Given the description of an element on the screen output the (x, y) to click on. 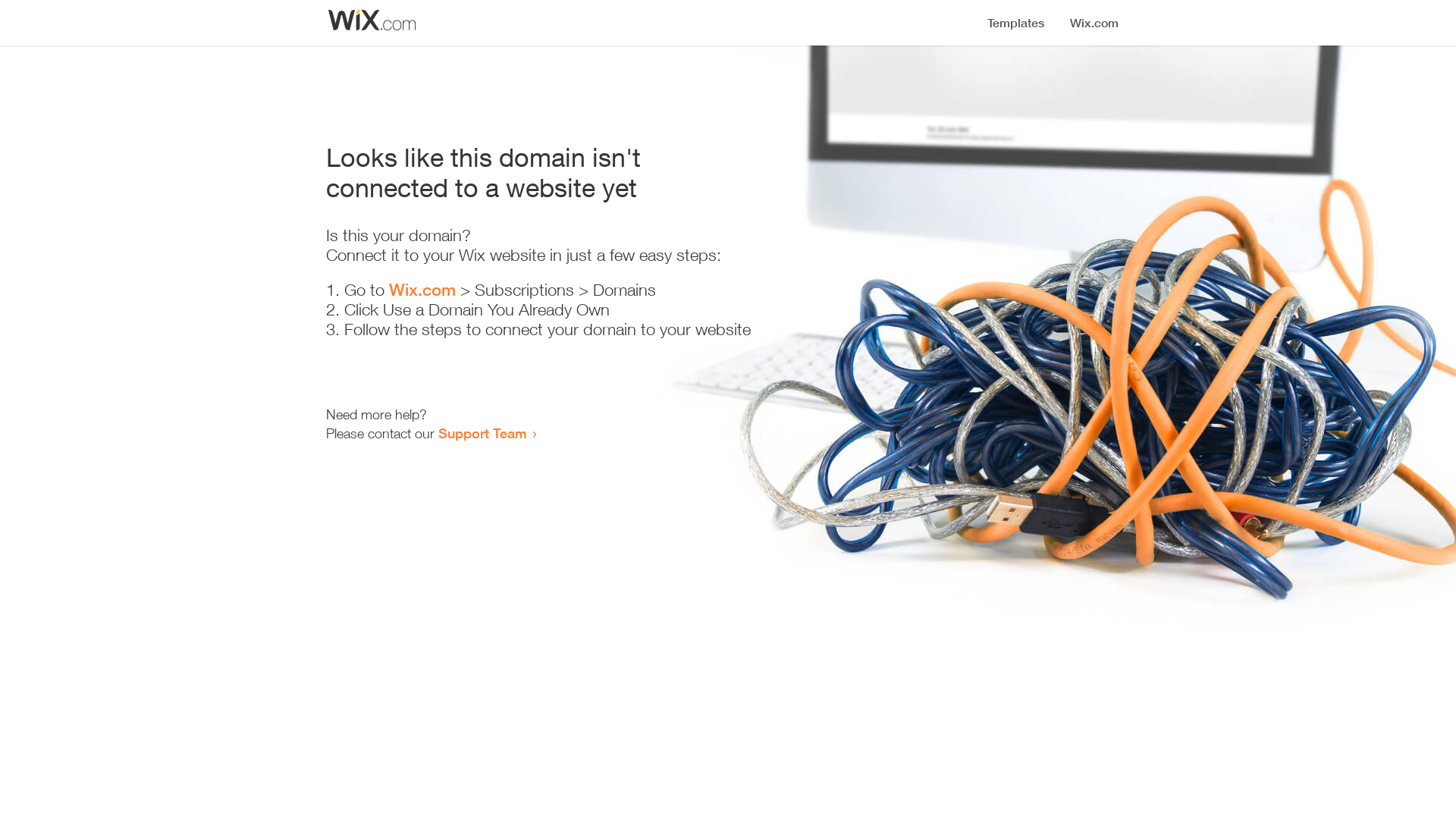
Support Team Element type: text (482, 432)
Wix.com Element type: text (422, 289)
